Given the description of an element on the screen output the (x, y) to click on. 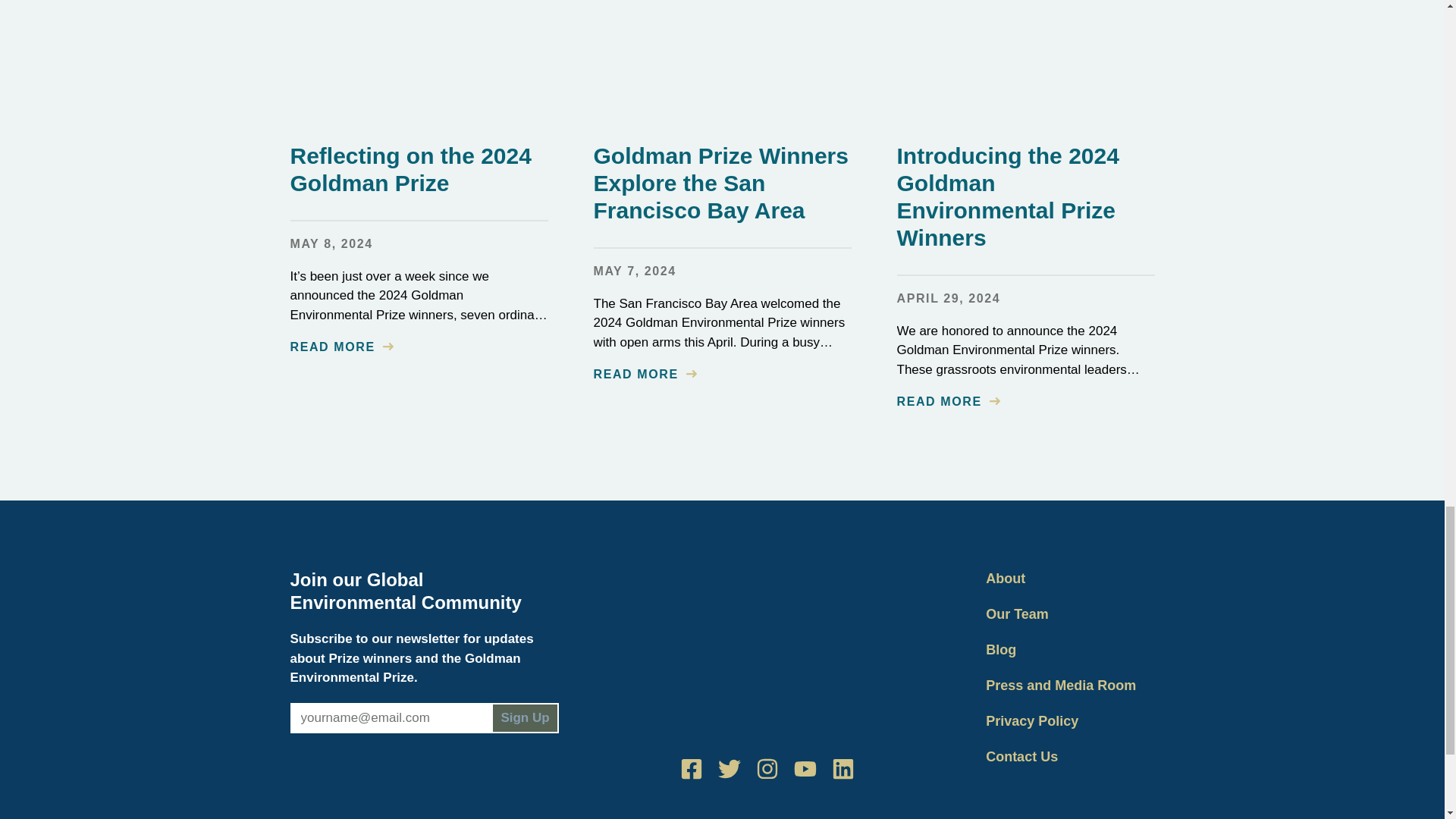
READ MORE (341, 346)
READ MORE (643, 374)
Sign Up (524, 718)
Introducing the 2024 Goldman Environmental Prize Winners (1007, 196)
READ MORE (947, 401)
Goldman Prize Winners Explore the San Francisco Bay Area (719, 182)
Reflecting on the 2024 Goldman Prize (410, 169)
Sign Up (524, 718)
